Given the description of an element on the screen output the (x, y) to click on. 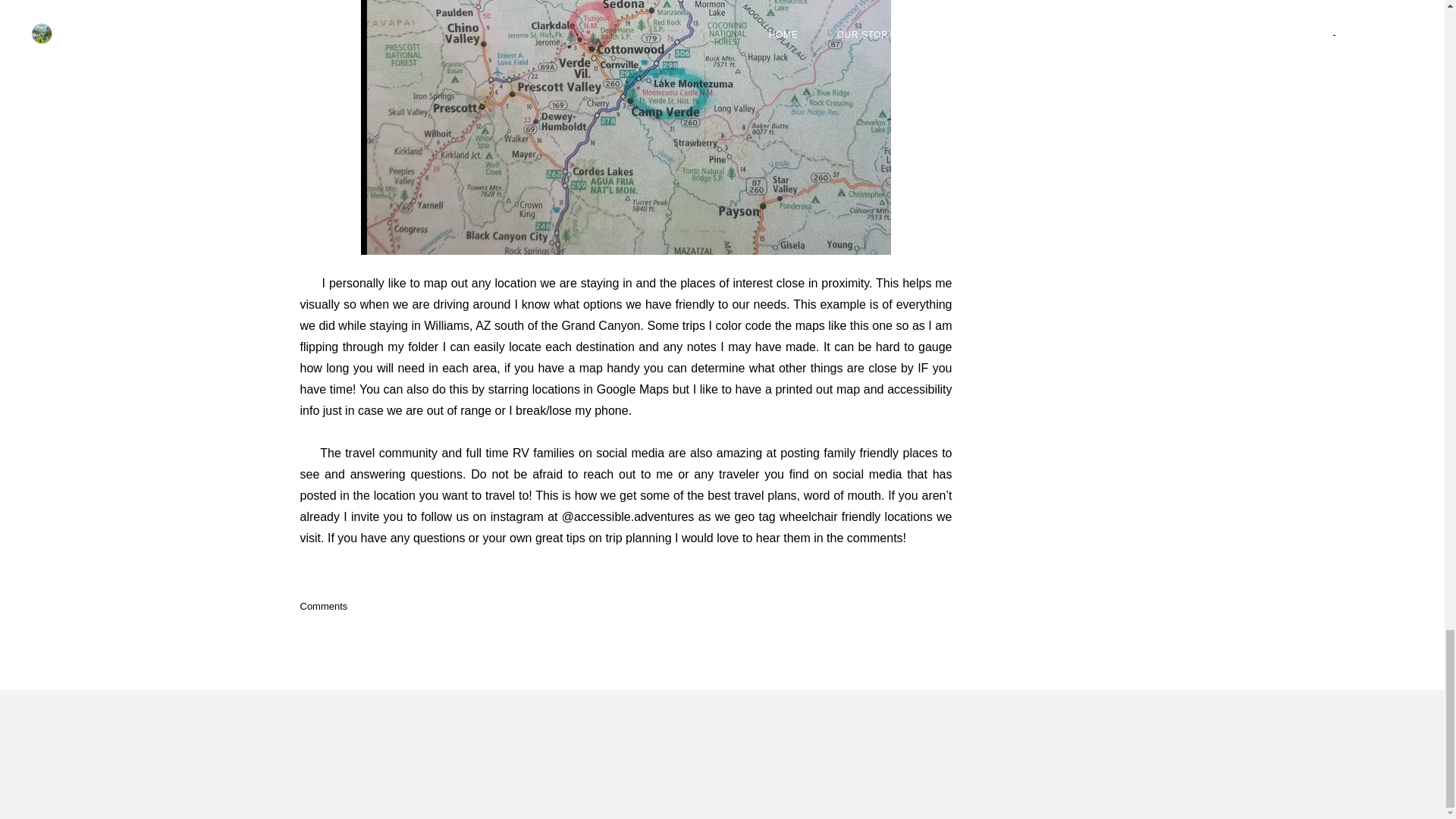
Comments (323, 605)
